Given the description of an element on the screen output the (x, y) to click on. 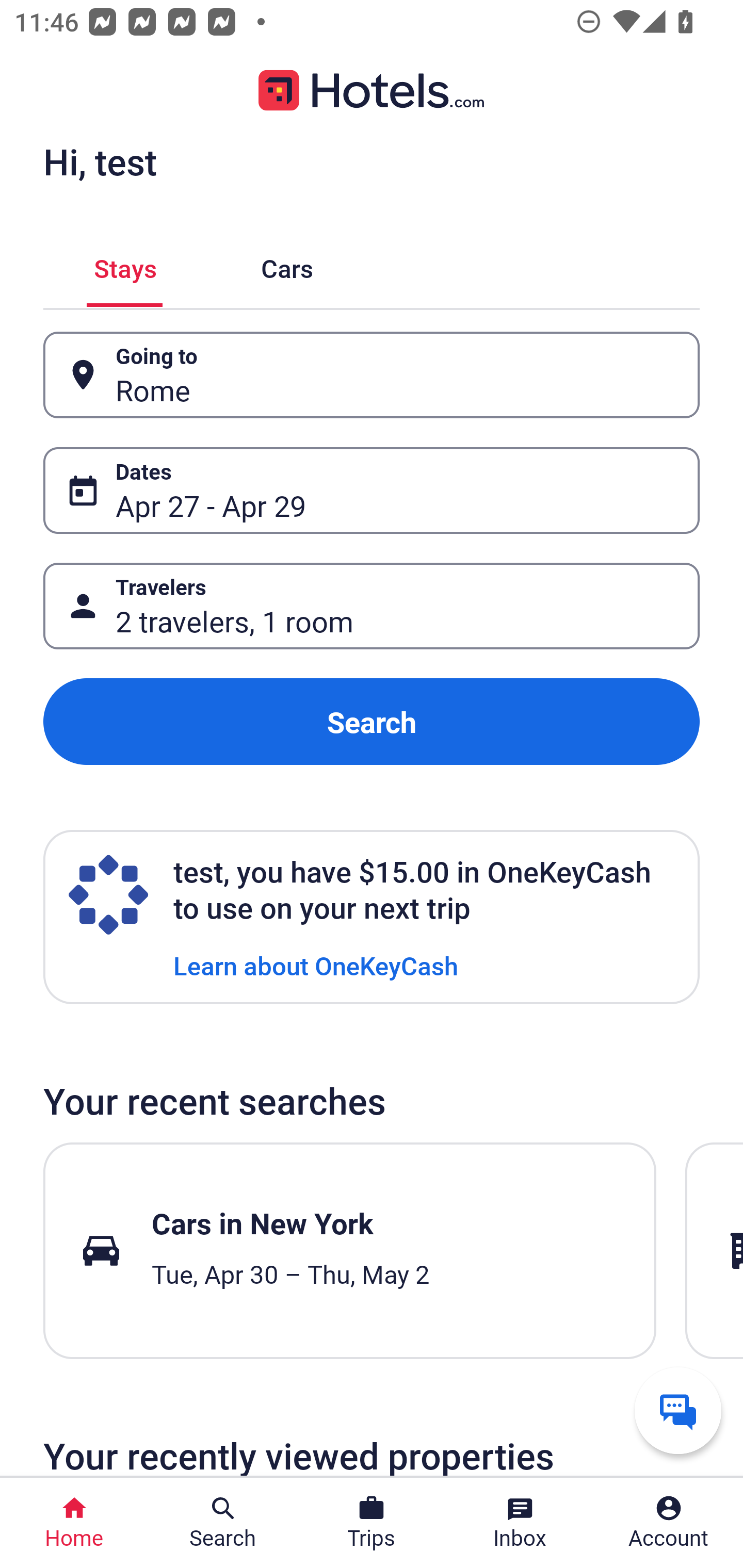
Hi, test (99, 161)
Cars (286, 265)
Going to Button Rome (371, 375)
Dates Button Apr 27 - Apr 29 (371, 489)
Travelers Button 2 travelers, 1 room (371, 605)
Search (371, 721)
Learn about OneKeyCash Learn about OneKeyCash Link (315, 964)
Get help from a virtual agent (677, 1410)
Search Search Button (222, 1522)
Trips Trips Button (371, 1522)
Inbox Inbox Button (519, 1522)
Account Profile. Button (668, 1522)
